Given the description of an element on the screen output the (x, y) to click on. 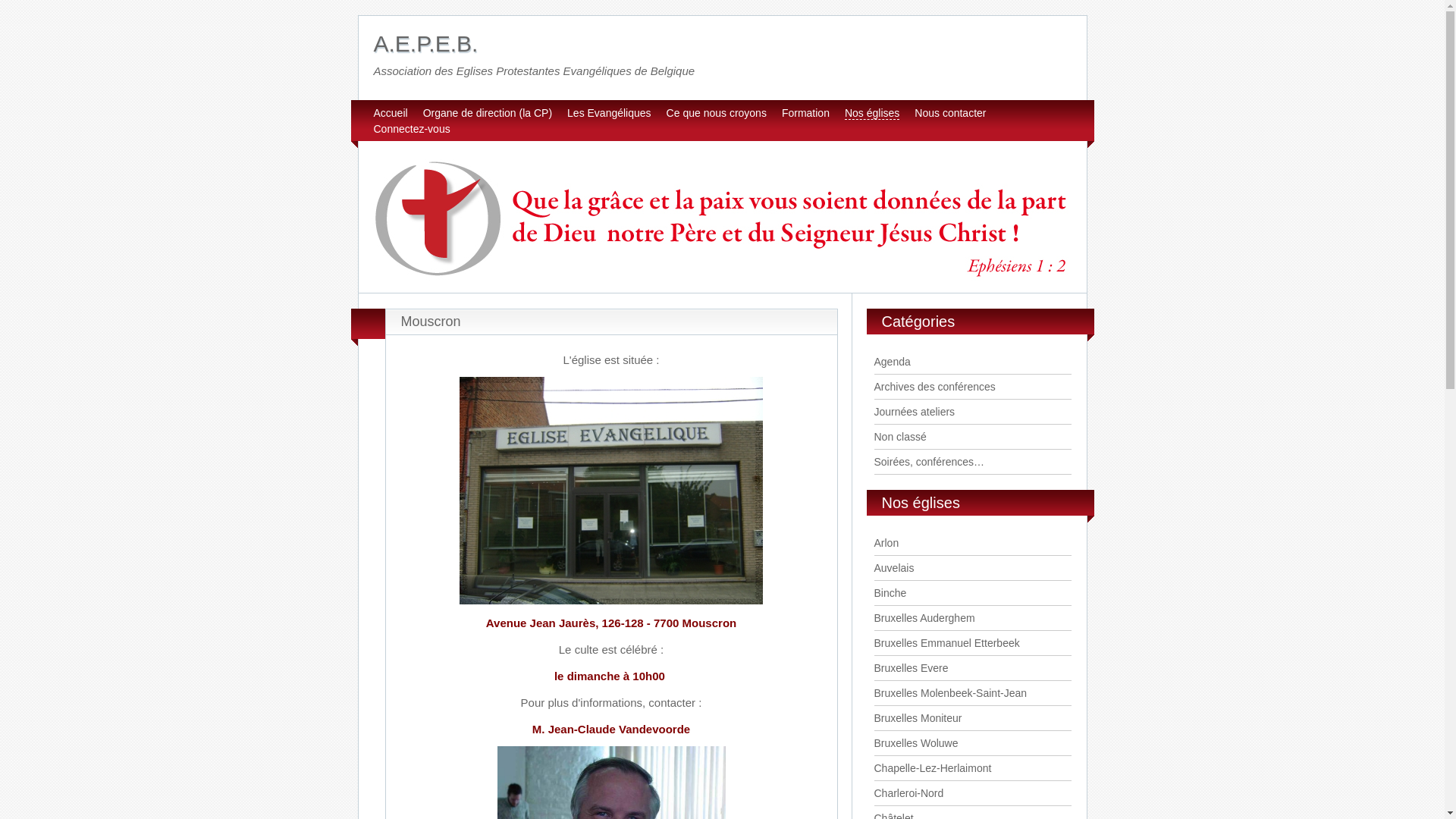
Bruxelles Woluwe Element type: text (915, 743)
Bruxelles Moniteur Element type: text (917, 718)
Mouscron Element type: text (430, 321)
Chapelle-Lez-Herlaimont Element type: text (932, 768)
Formation Element type: text (805, 112)
Bruxelles Molenbeek-Saint-Jean Element type: text (949, 693)
Nous contacter Element type: text (949, 112)
Accueil Element type: text (390, 112)
mouscron Element type: hover (610, 490)
A.E.P.E.B. Element type: text (425, 43)
Bruxelles Evere Element type: text (910, 668)
Connectez-vous Element type: text (411, 128)
Organe de direction (la CP) Element type: text (487, 112)
Bruxelles Auderghem Element type: text (923, 617)
Binche Element type: text (889, 592)
Auvelais Element type: text (893, 567)
Bruxelles Emmanuel Etterbeek Element type: text (946, 643)
Charleroi-Nord Element type: text (908, 793)
Ce que nous croyons Element type: text (716, 112)
Agenda Element type: text (891, 361)
Arlon Element type: text (885, 542)
